Given the description of an element on the screen output the (x, y) to click on. 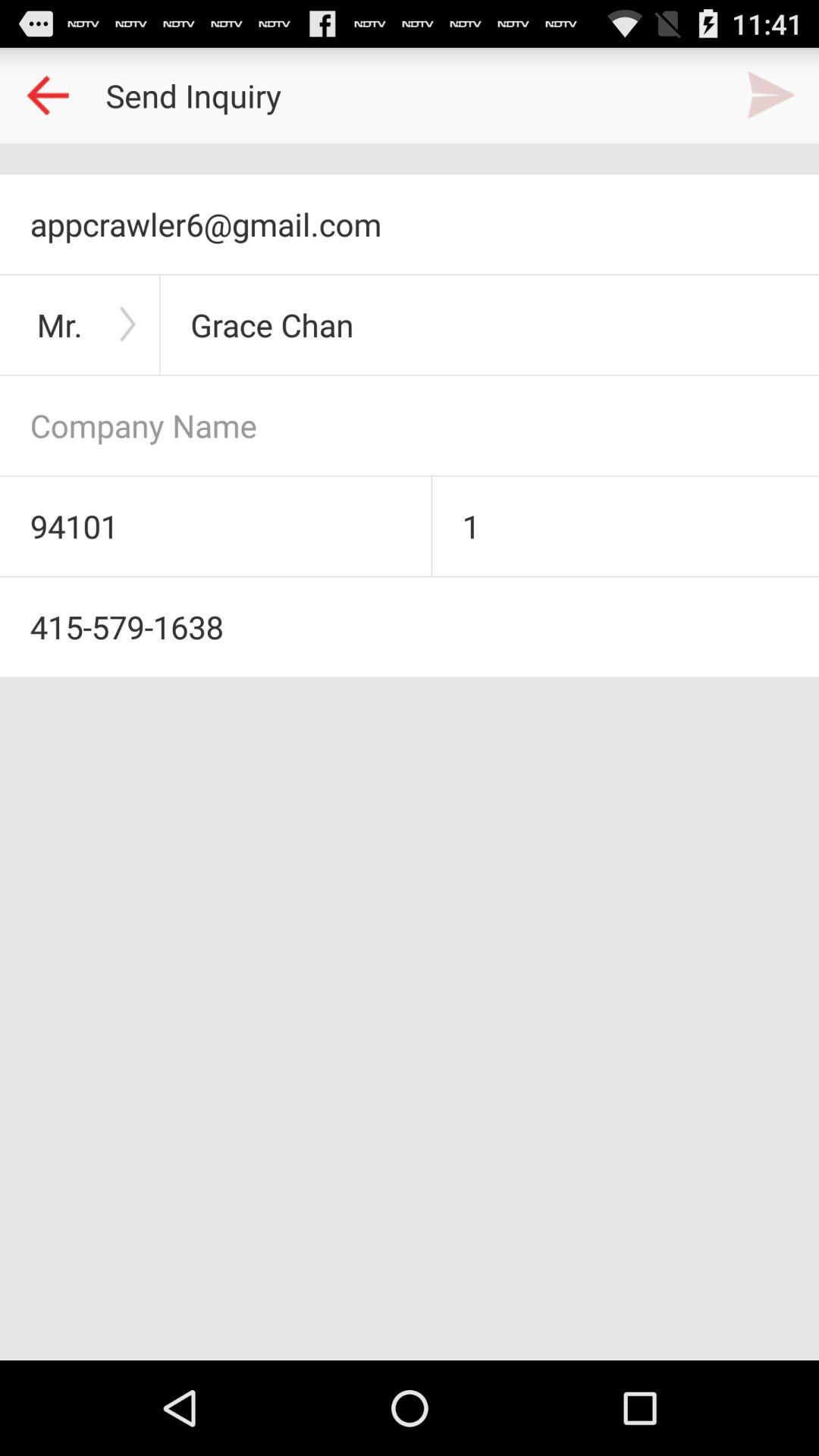
go to previous (47, 95)
